Given the description of an element on the screen output the (x, y) to click on. 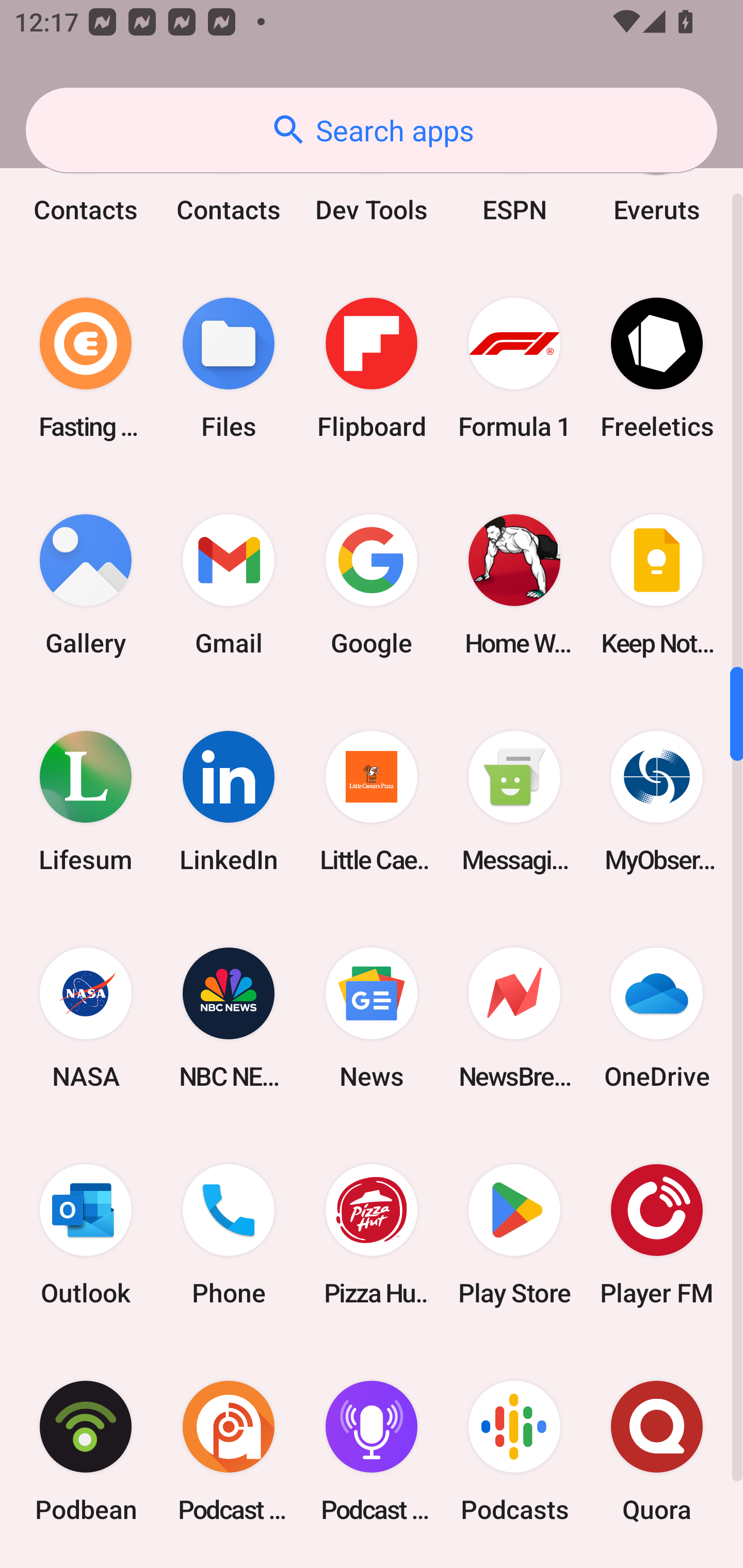
  Search apps (371, 130)
Fasting Coach (85, 368)
Files (228, 368)
Flipboard (371, 368)
Formula 1 (514, 368)
Freeletics (656, 368)
Gallery (85, 584)
Gmail (228, 584)
Google (371, 584)
Home Workout (514, 584)
Keep Notes (656, 584)
Lifesum (85, 801)
LinkedIn (228, 801)
Little Caesars Pizza (371, 801)
Messaging (514, 801)
MyObservatory (656, 801)
NASA (85, 1017)
NBC NEWS (228, 1017)
News (371, 1017)
NewsBreak (514, 1017)
OneDrive (656, 1017)
Outlook (85, 1234)
Phone (228, 1234)
Pizza Hut HK & Macau (371, 1234)
Play Store (514, 1234)
Player FM (656, 1234)
Podbean (85, 1451)
Podcast Addict (228, 1451)
Podcast Player (371, 1451)
Podcasts (514, 1451)
Quora (656, 1451)
